Given the description of an element on the screen output the (x, y) to click on. 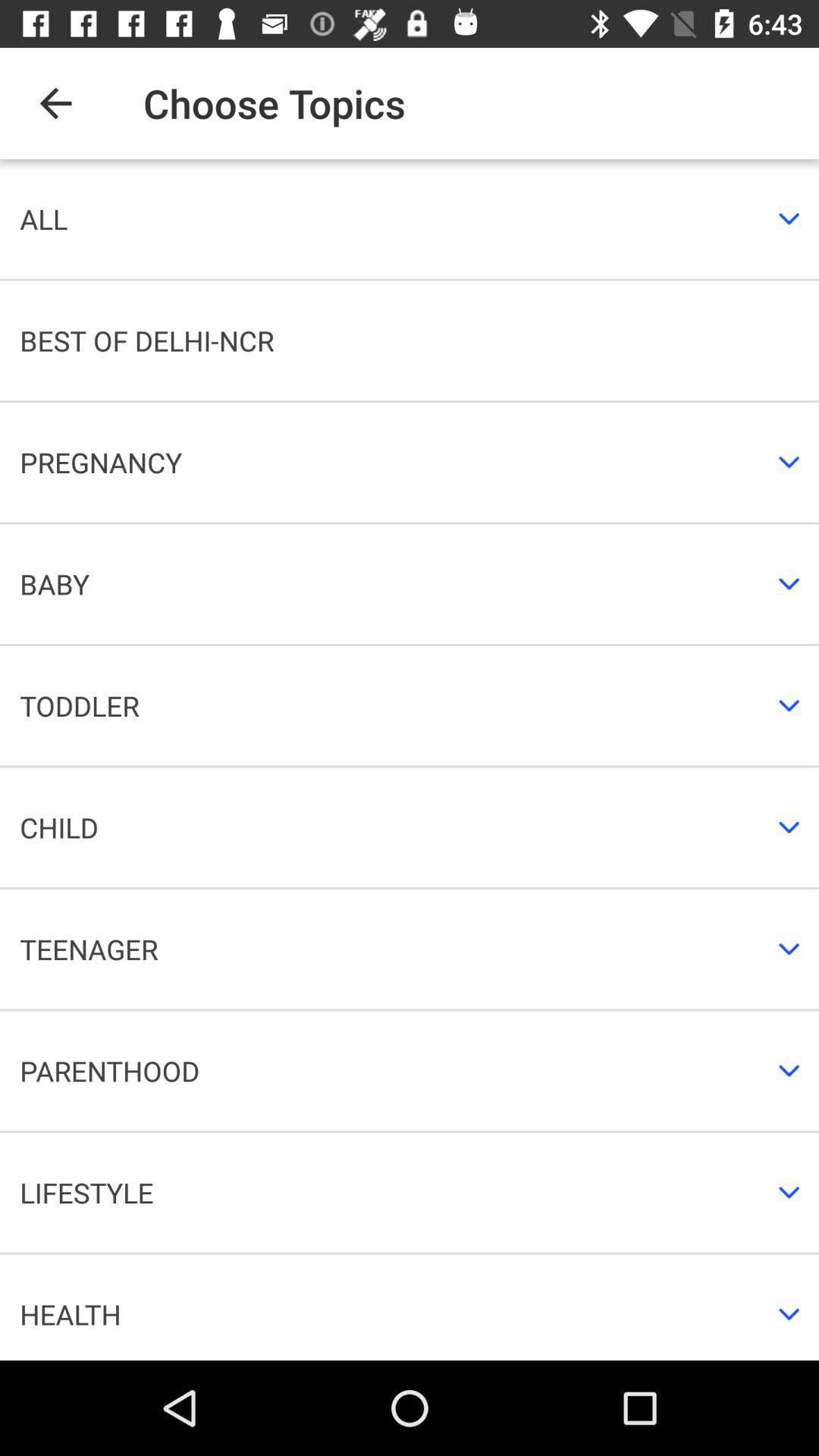
open the item above all (55, 103)
